Given the description of an element on the screen output the (x, y) to click on. 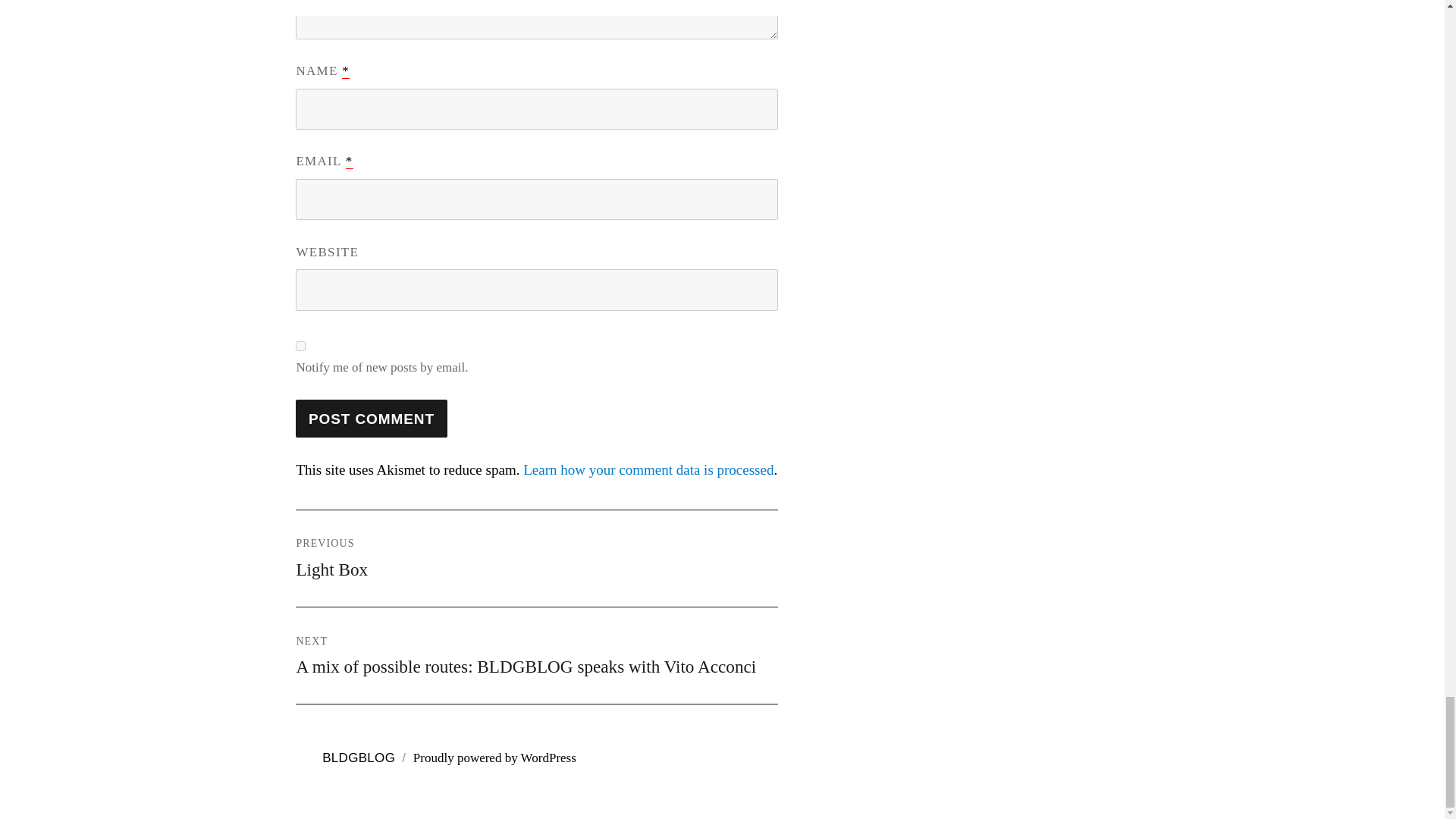
Post Comment (370, 418)
Learn how your comment data is processed (536, 558)
Post Comment (647, 469)
subscribe (370, 418)
